Given the description of an element on the screen output the (x, y) to click on. 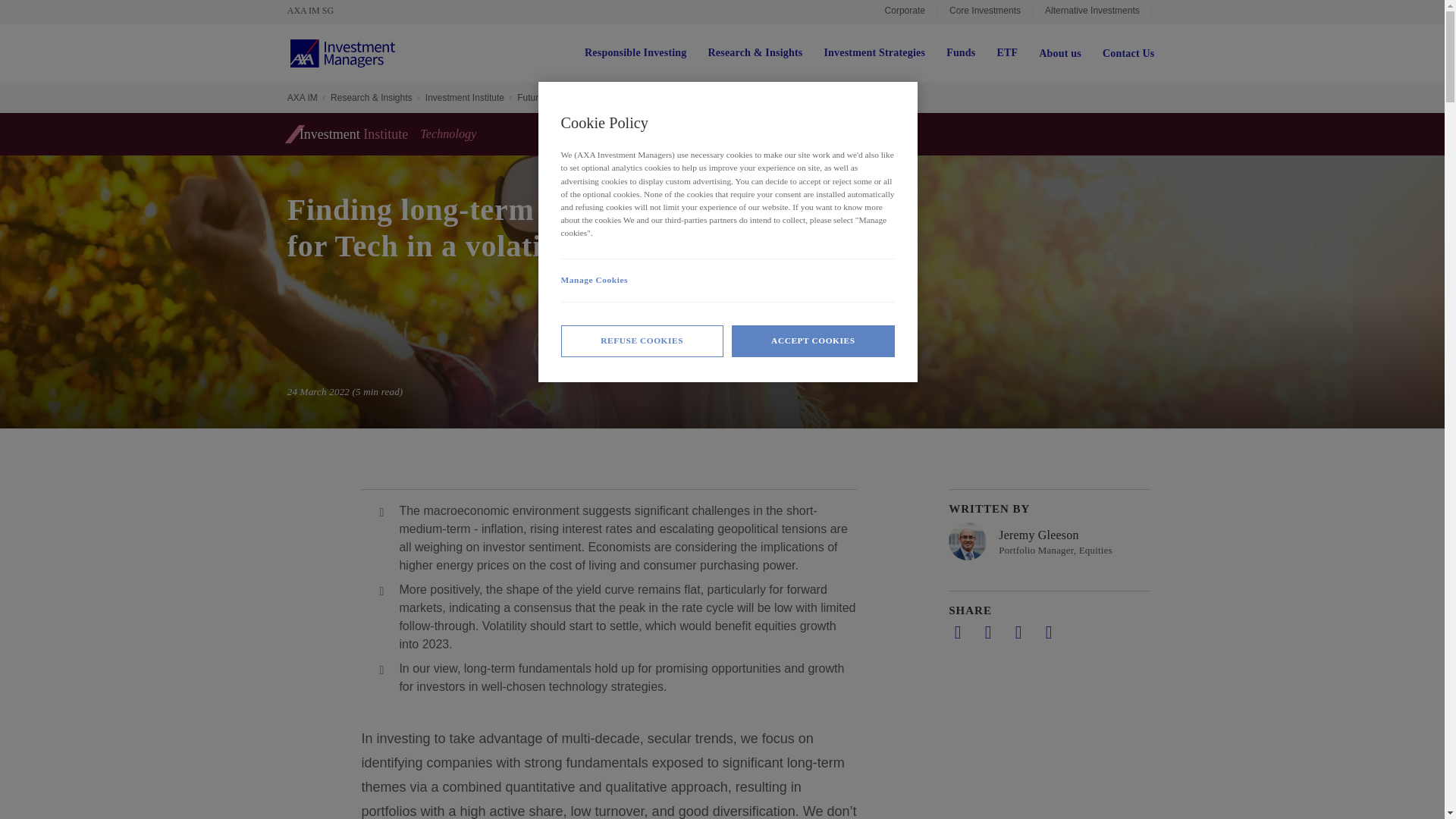
Investment Strategies (874, 53)
Share on twitter - New window (987, 632)
AXA Investment Managers, Home (341, 53)
Core Investments (984, 12)
Share on LinkedIn - New window (957, 632)
Responsible Investing (636, 53)
Copy URL (1048, 632)
Corporate (904, 12)
Alternative Investments (1091, 12)
AXA IM SG (317, 10)
